Given the description of an element on the screen output the (x, y) to click on. 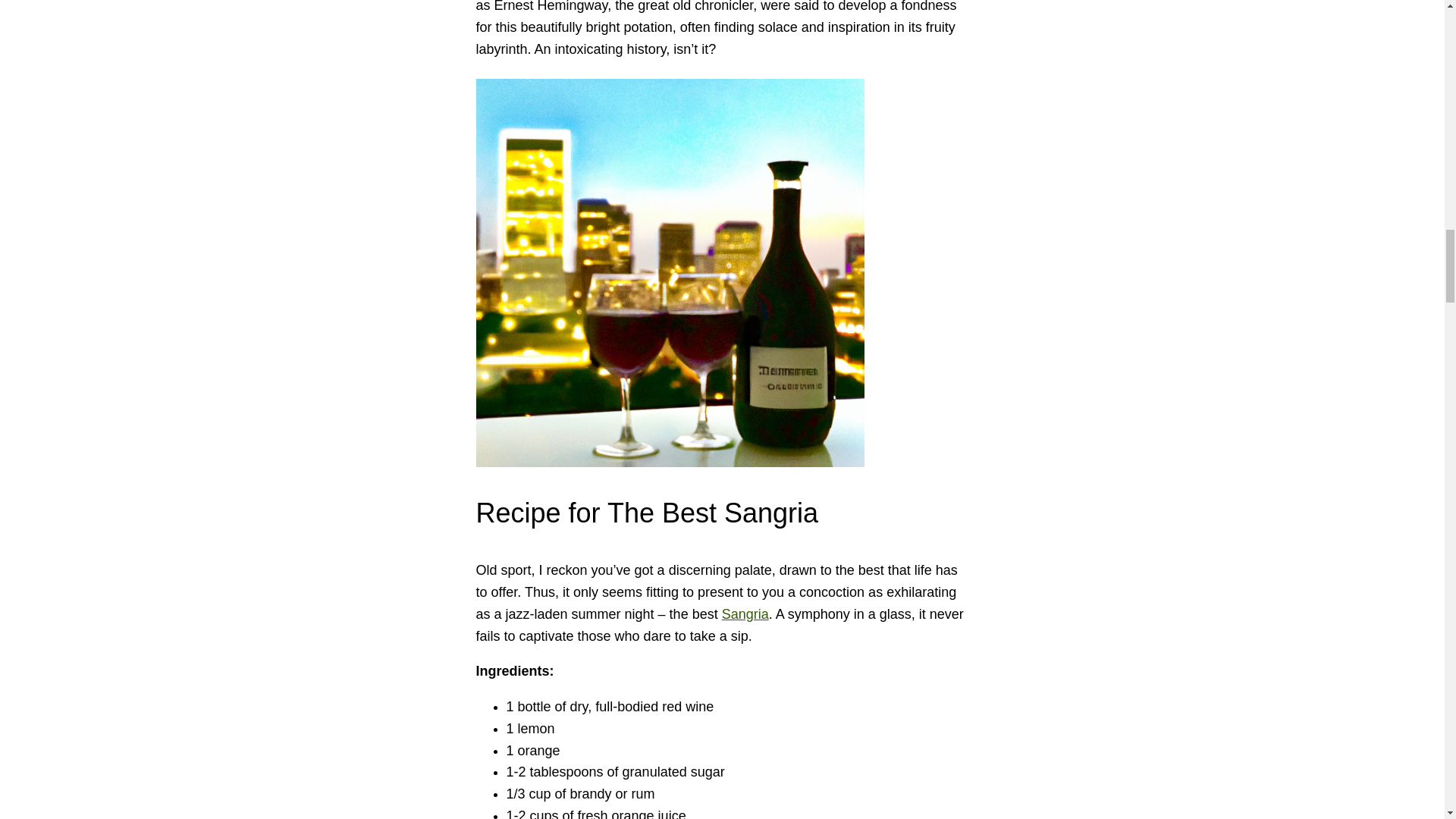
Sangria (745, 613)
